Given the description of an element on the screen output the (x, y) to click on. 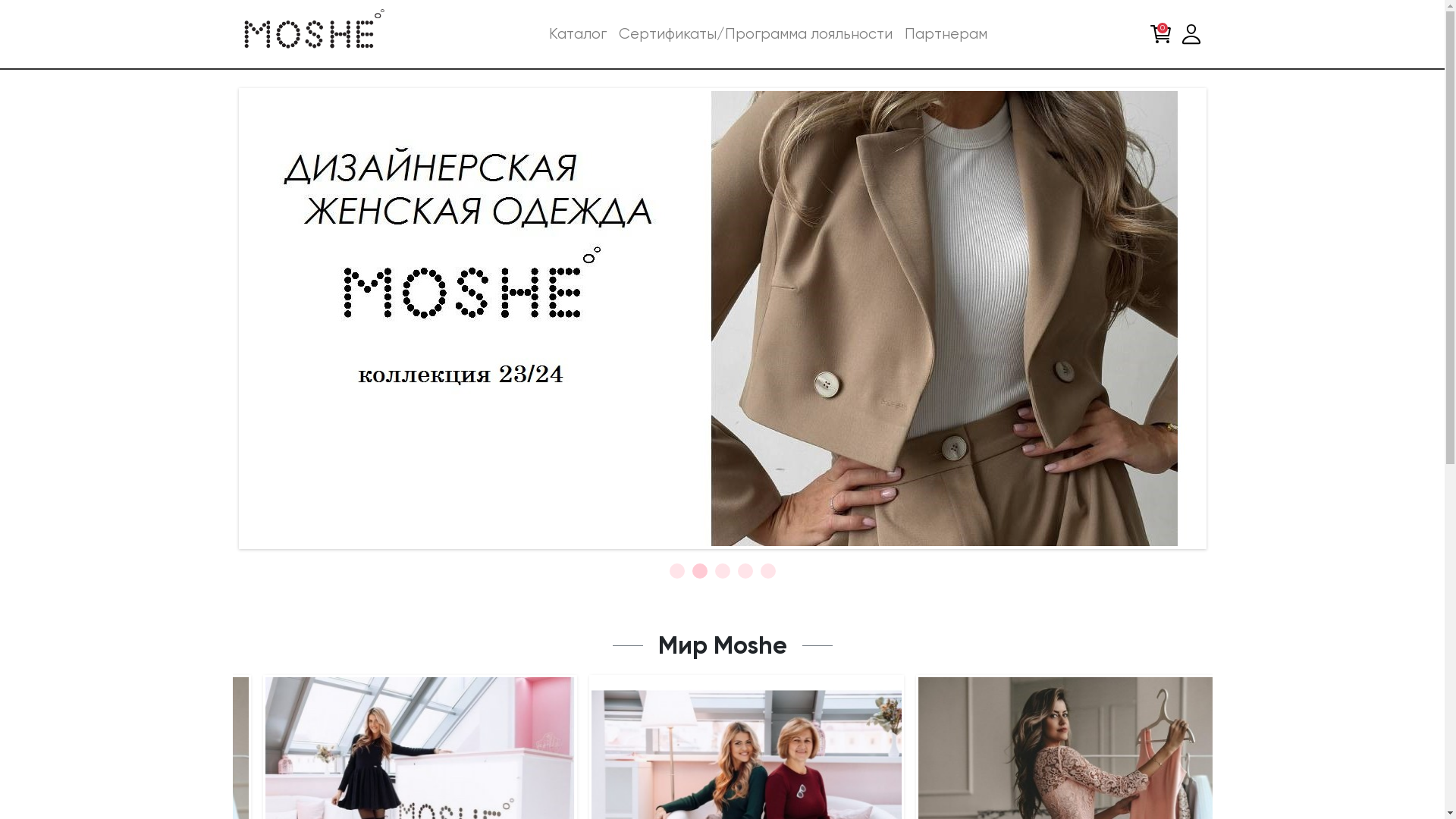
0 Element type: text (1160, 33)
